Given the description of an element on the screen output the (x, y) to click on. 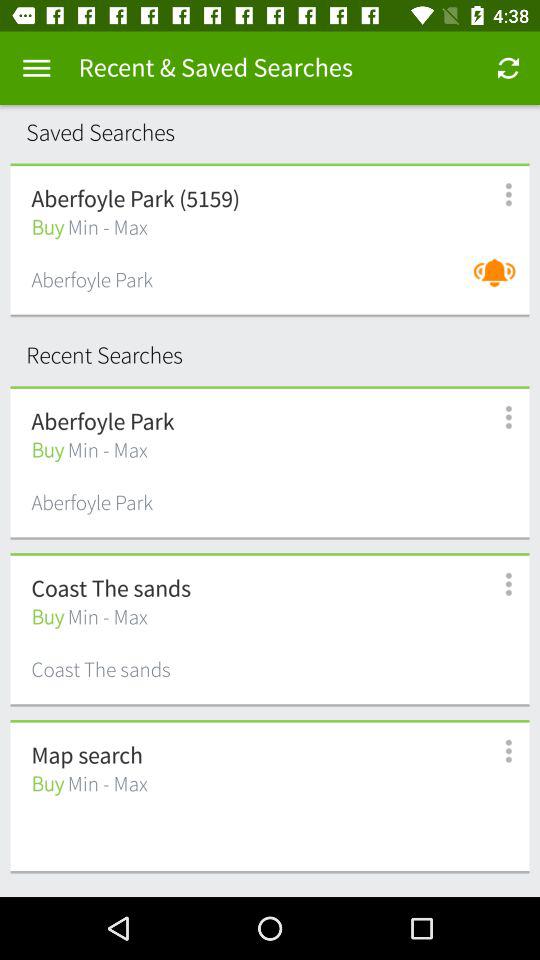
more options (497, 194)
